Given the description of an element on the screen output the (x, y) to click on. 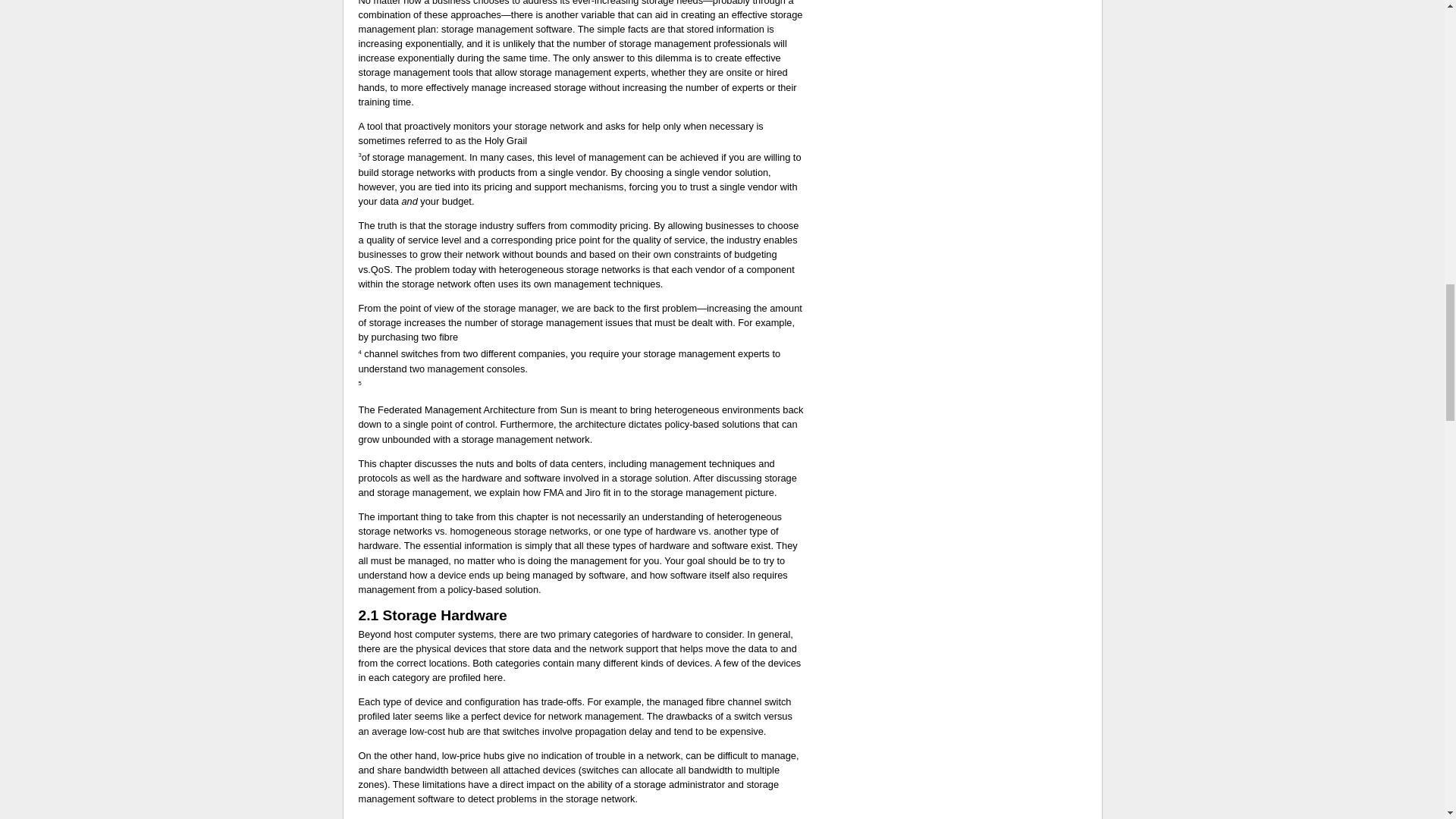
3 (442, 165)
4 (408, 362)
5 (442, 393)
